Given the description of an element on the screen output the (x, y) to click on. 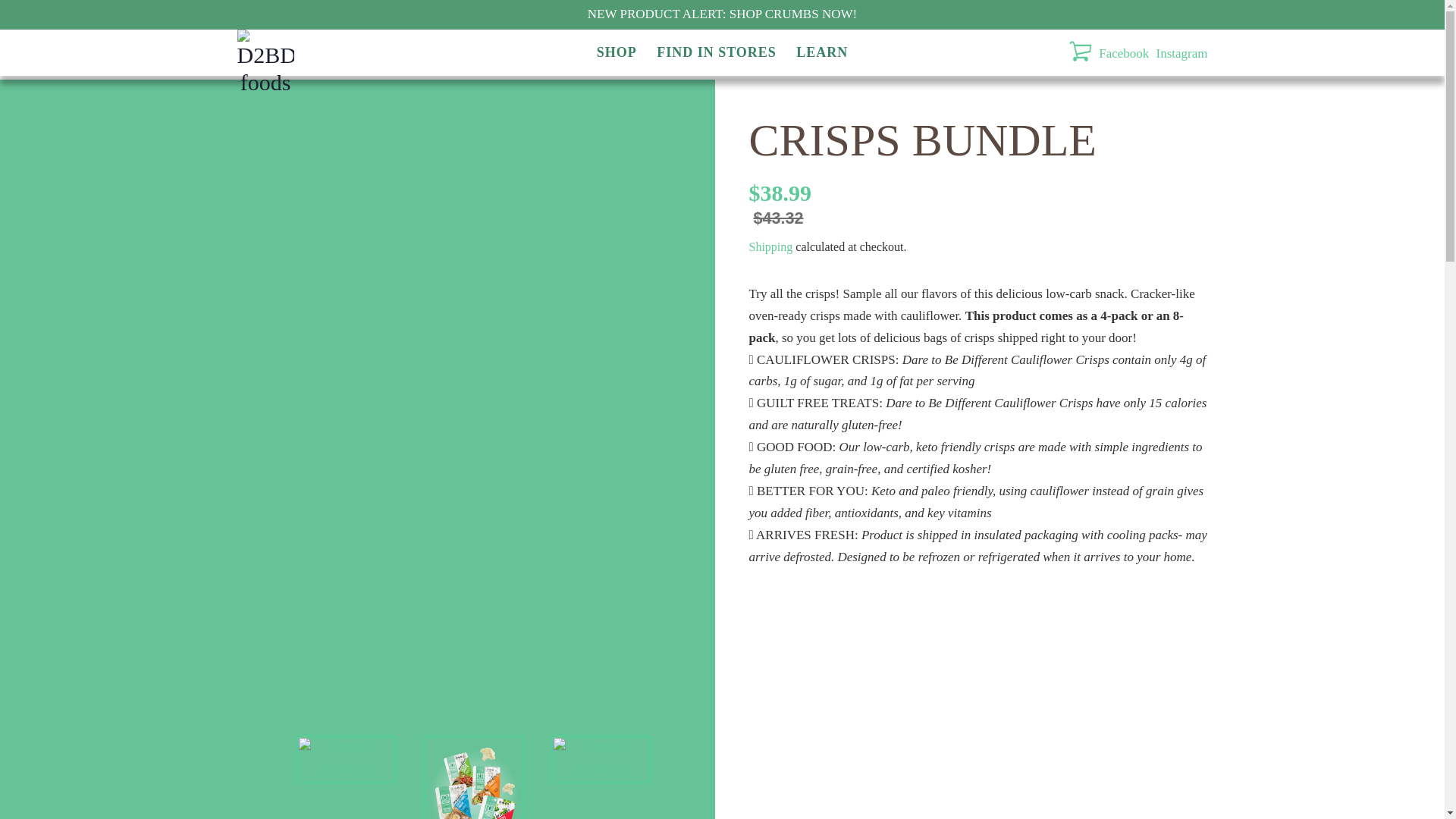
Facebook (1123, 52)
NEW PRODUCT ALERT: SHOP CRUMBS NOW! (722, 13)
SHOP (620, 52)
D2BD-foods on Instagram (1182, 52)
LEARN (818, 52)
FIND IN STORES (716, 52)
D2BD-foods on Facebook (1123, 52)
